Given the description of an element on the screen output the (x, y) to click on. 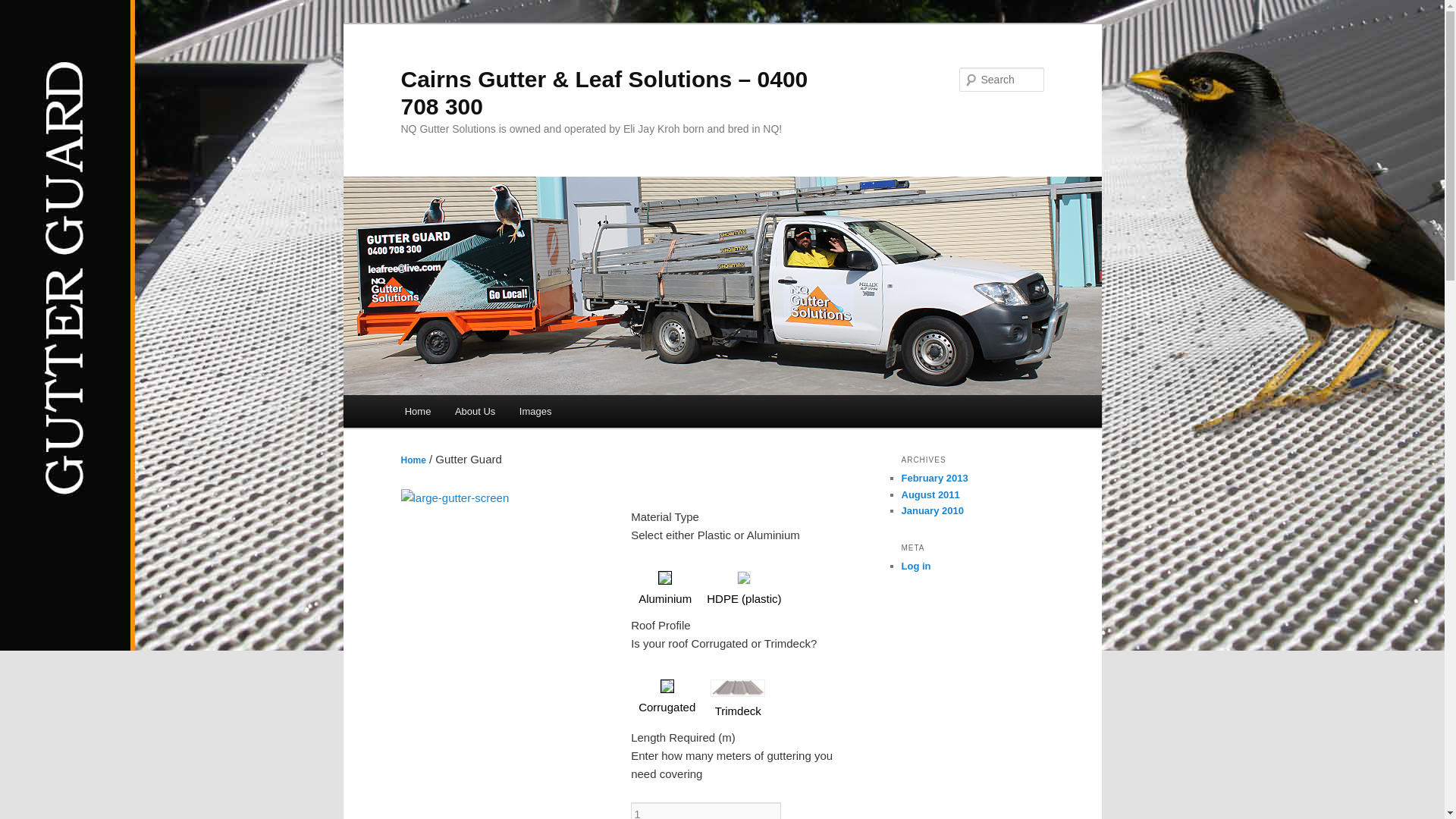
Images Element type: text (535, 411)
Log in Element type: text (915, 565)
August 2011 Element type: text (929, 494)
Search Element type: text (24, 8)
January 2010 Element type: text (931, 510)
large-gutter-screen Element type: hover (454, 498)
Home Element type: text (412, 460)
February 2013 Element type: text (933, 477)
Home Element type: text (417, 411)
Skip to primary content Element type: text (414, 395)
About Us Element type: text (474, 411)
